Given the description of an element on the screen output the (x, y) to click on. 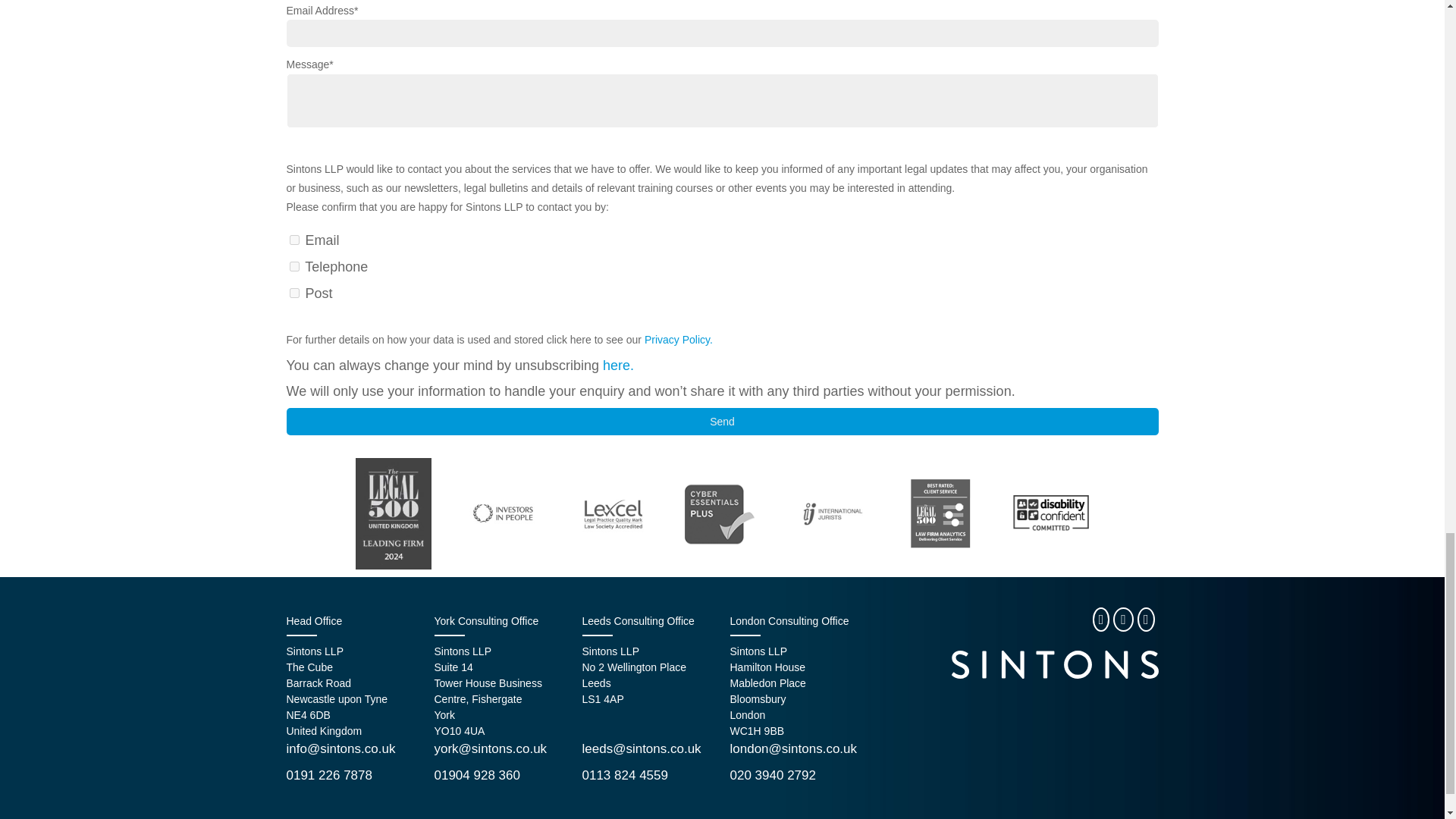
Email (294, 239)
Telephone (294, 266)
Post (294, 293)
Send (722, 420)
